Given the description of an element on the screen output the (x, y) to click on. 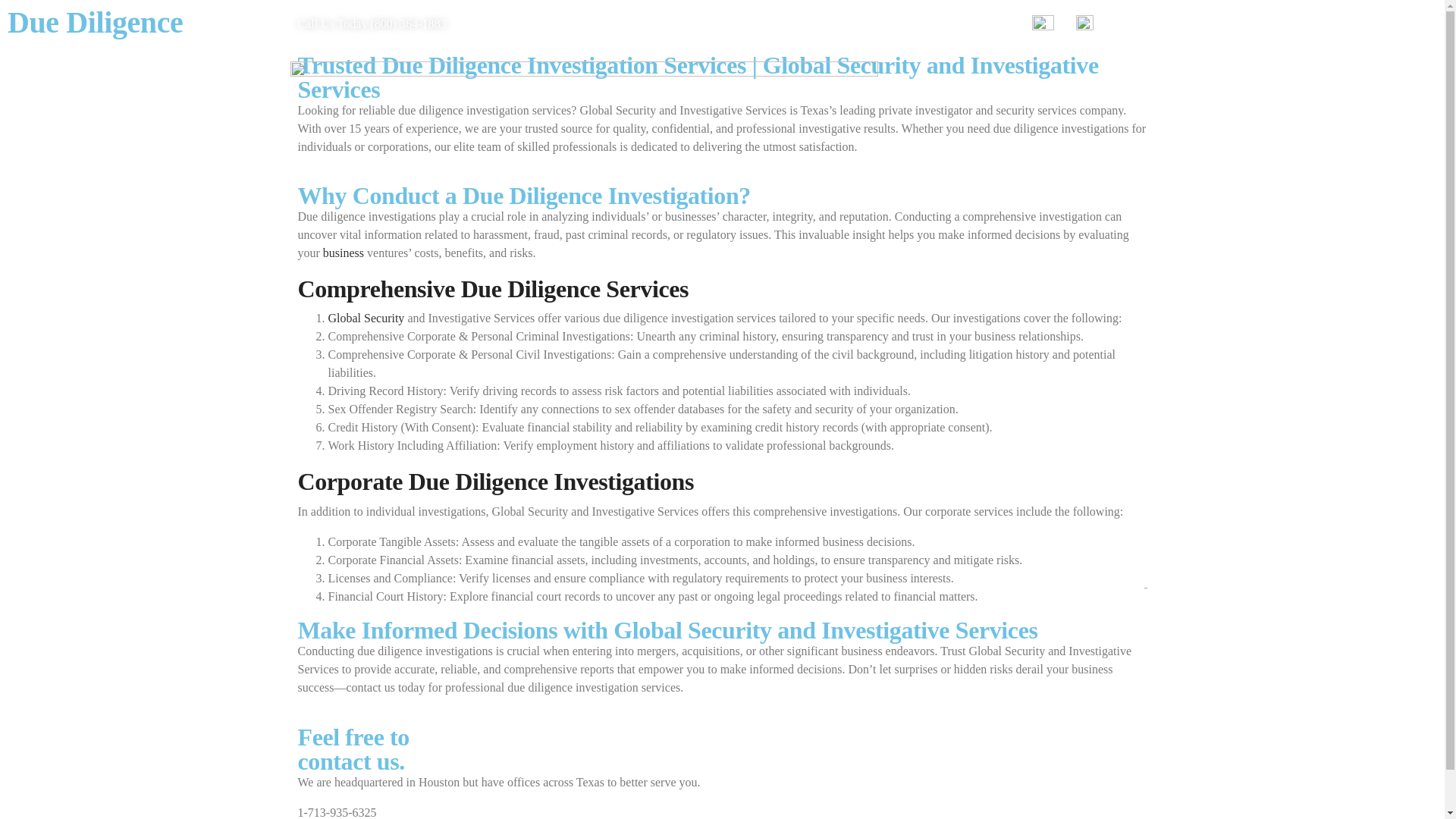
FAQS (1124, 84)
OUR SERVICES (619, 84)
PROPOSAL REQUEST (852, 84)
OUR LOCATIONS (1091, 120)
ABOUT US (532, 84)
CAREERS (1067, 84)
GUARD SERVICES (727, 84)
INVESTIGATIONS (975, 84)
